Given the description of an element on the screen output the (x, y) to click on. 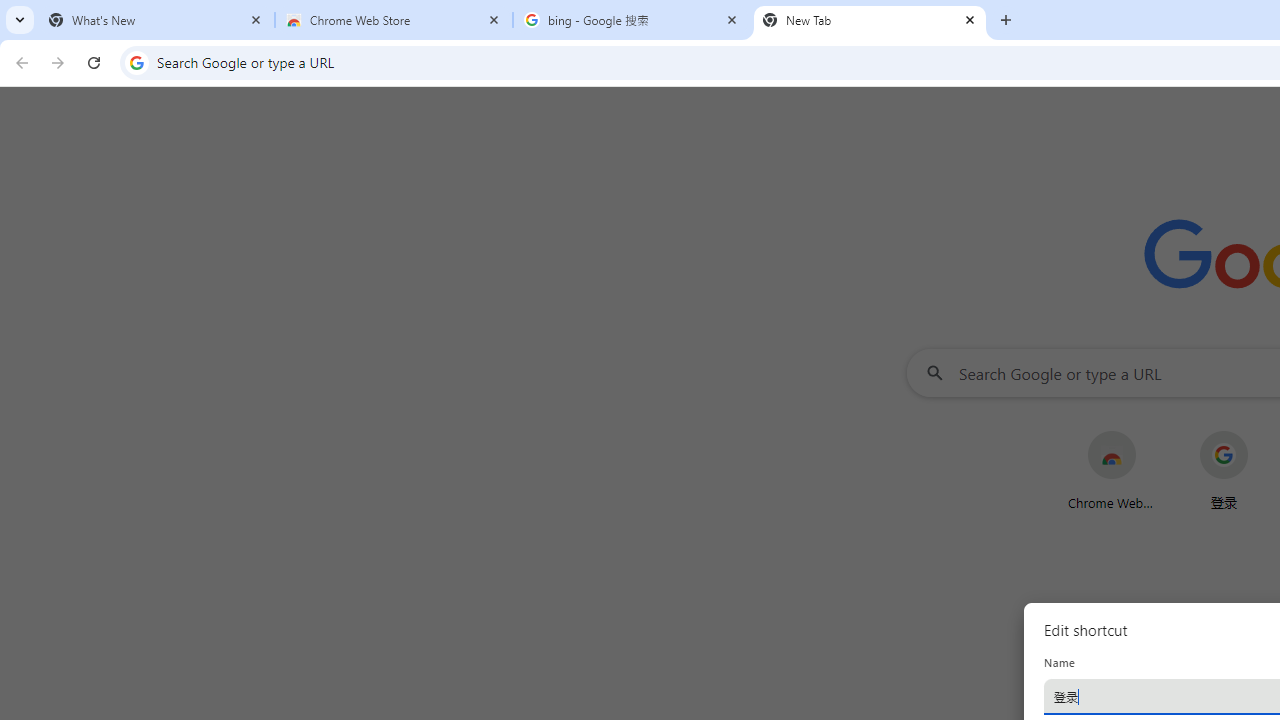
What's New (156, 20)
Chrome Web Store (394, 20)
New Tab (870, 20)
